Given the description of an element on the screen output the (x, y) to click on. 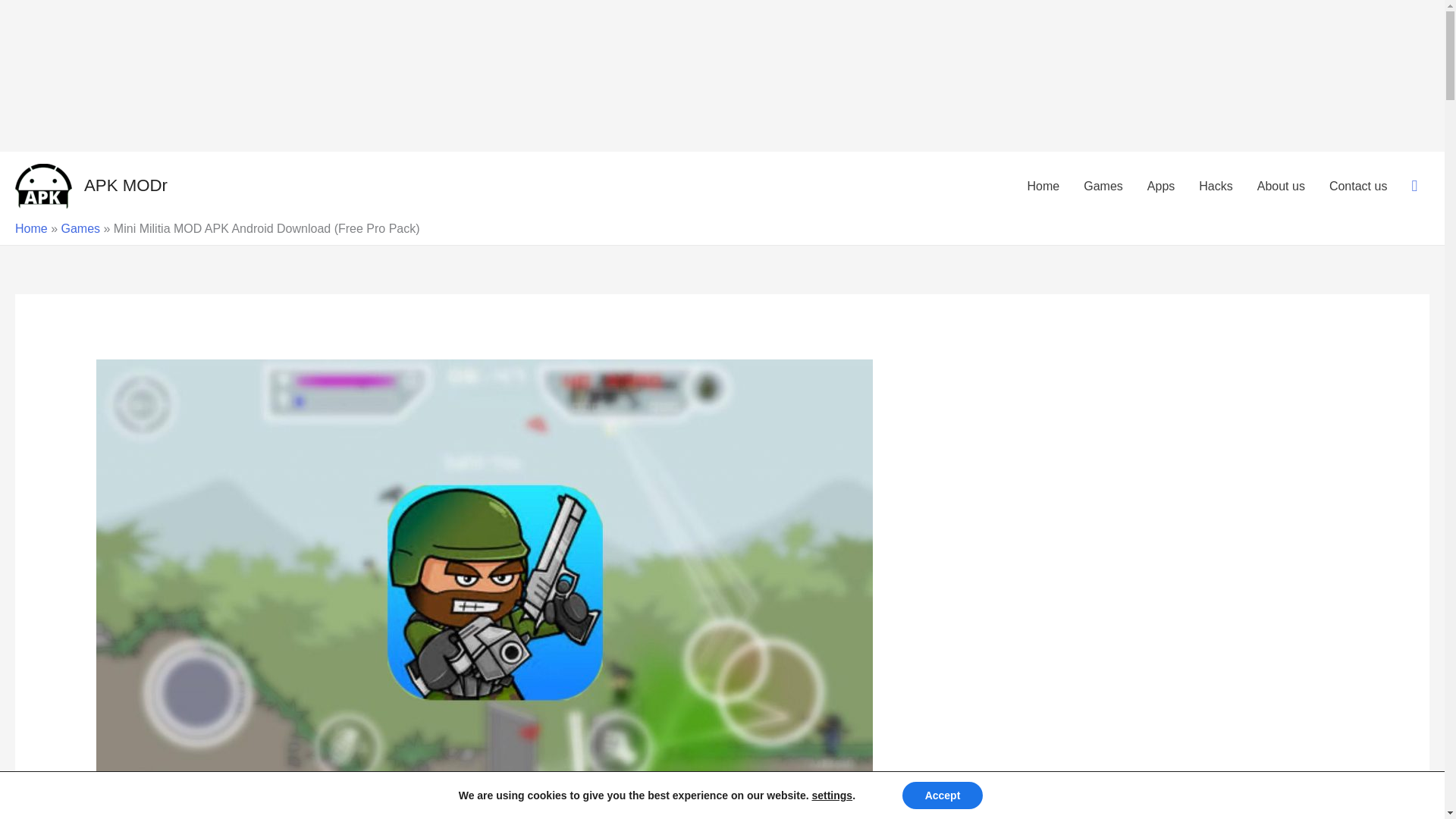
Games (80, 228)
Home (31, 228)
Contact us (1358, 185)
Games (1103, 185)
APK MODr (125, 185)
About us (1280, 185)
Search (18, 17)
